Given the description of an element on the screen output the (x, y) to click on. 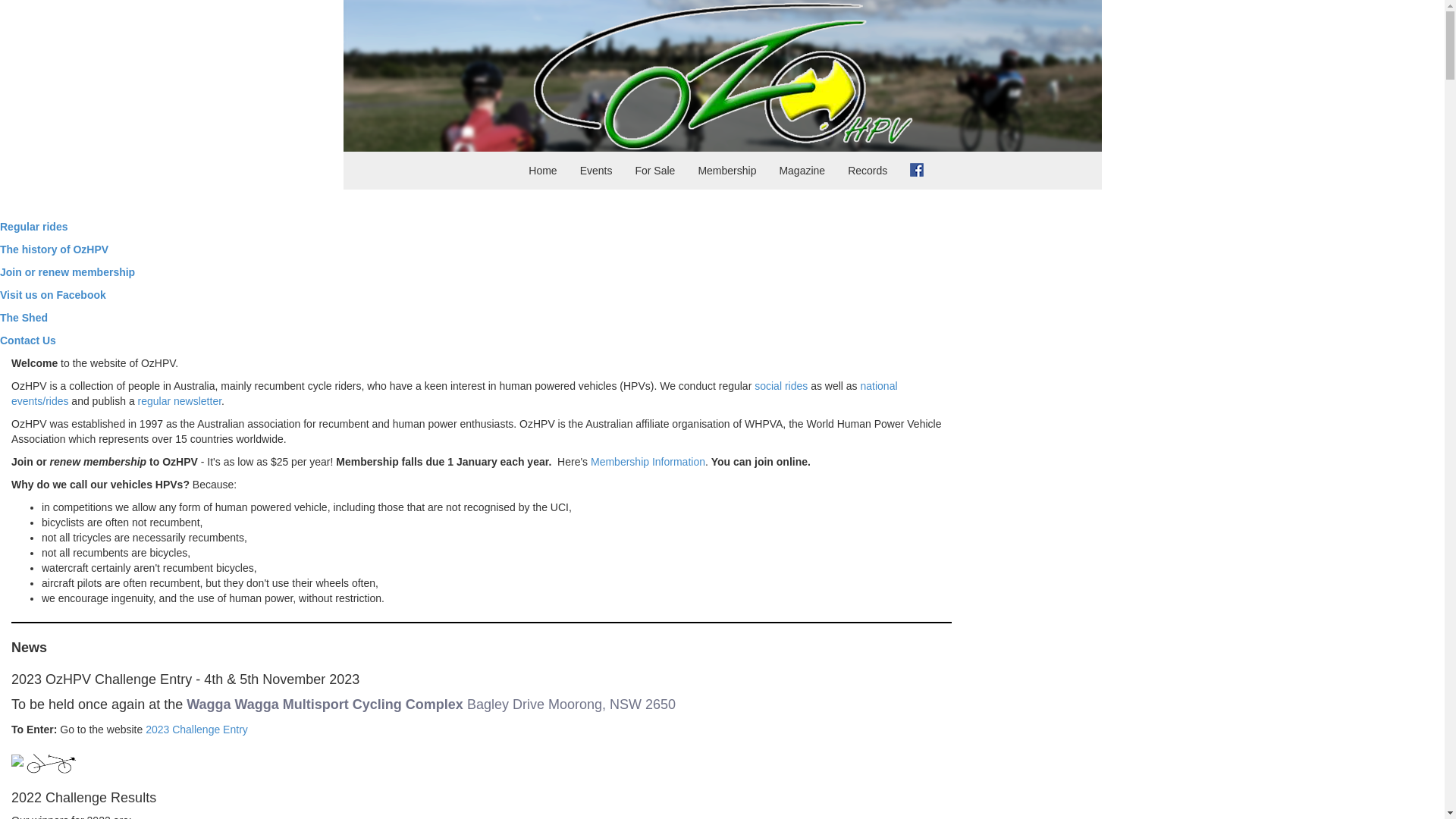
Magazine Element type: text (801, 170)
The history of OzHPV Element type: text (54, 249)
national events/rides Element type: text (454, 393)
Regular rides Element type: text (33, 226)
Visit us on Facebook Element type: text (53, 294)
Join or renew membership Element type: text (67, 272)
Records Element type: text (867, 170)
Home Element type: text (542, 170)
Membership Information Element type: text (647, 461)
Membership Element type: text (726, 170)
The Shed Element type: text (23, 317)
regular newsletter Element type: text (180, 401)
social rides Element type: text (780, 385)
Contact Us Element type: text (28, 340)
Events Element type: text (596, 170)
2023 Challenge Entry Element type: text (196, 729)
For Sale Element type: text (654, 170)
